Given the description of an element on the screen output the (x, y) to click on. 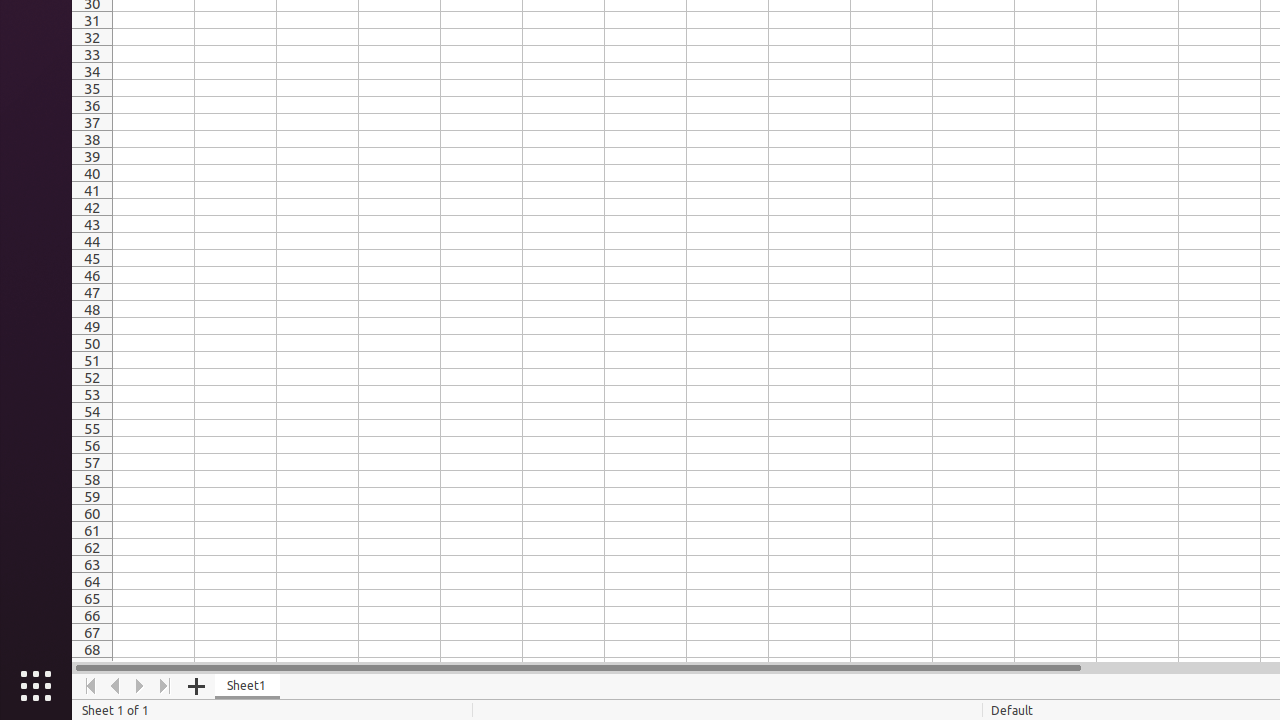
Move Right Element type: push-button (140, 686)
Move To Home Element type: push-button (90, 686)
Move To End Element type: push-button (165, 686)
Move Left Element type: push-button (115, 686)
